Given the description of an element on the screen output the (x, y) to click on. 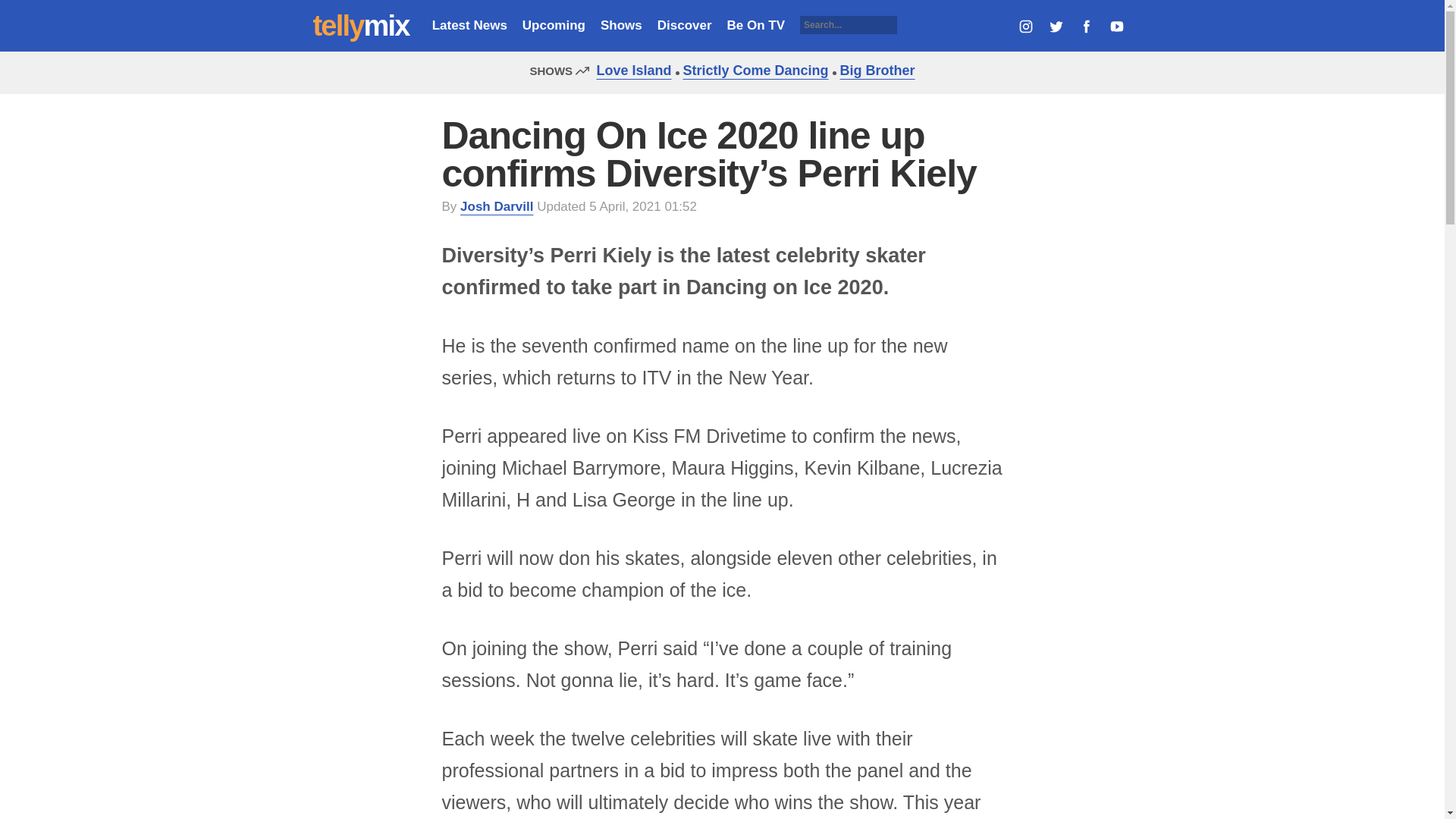
Big Brother (873, 70)
tellymix (361, 25)
Be On TV (756, 25)
Love Island (629, 70)
Discover (684, 25)
Josh Darvill (496, 206)
Shows (620, 25)
Latest News (469, 25)
Strictly Come Dancing (751, 70)
Upcoming (553, 25)
